Given the description of an element on the screen output the (x, y) to click on. 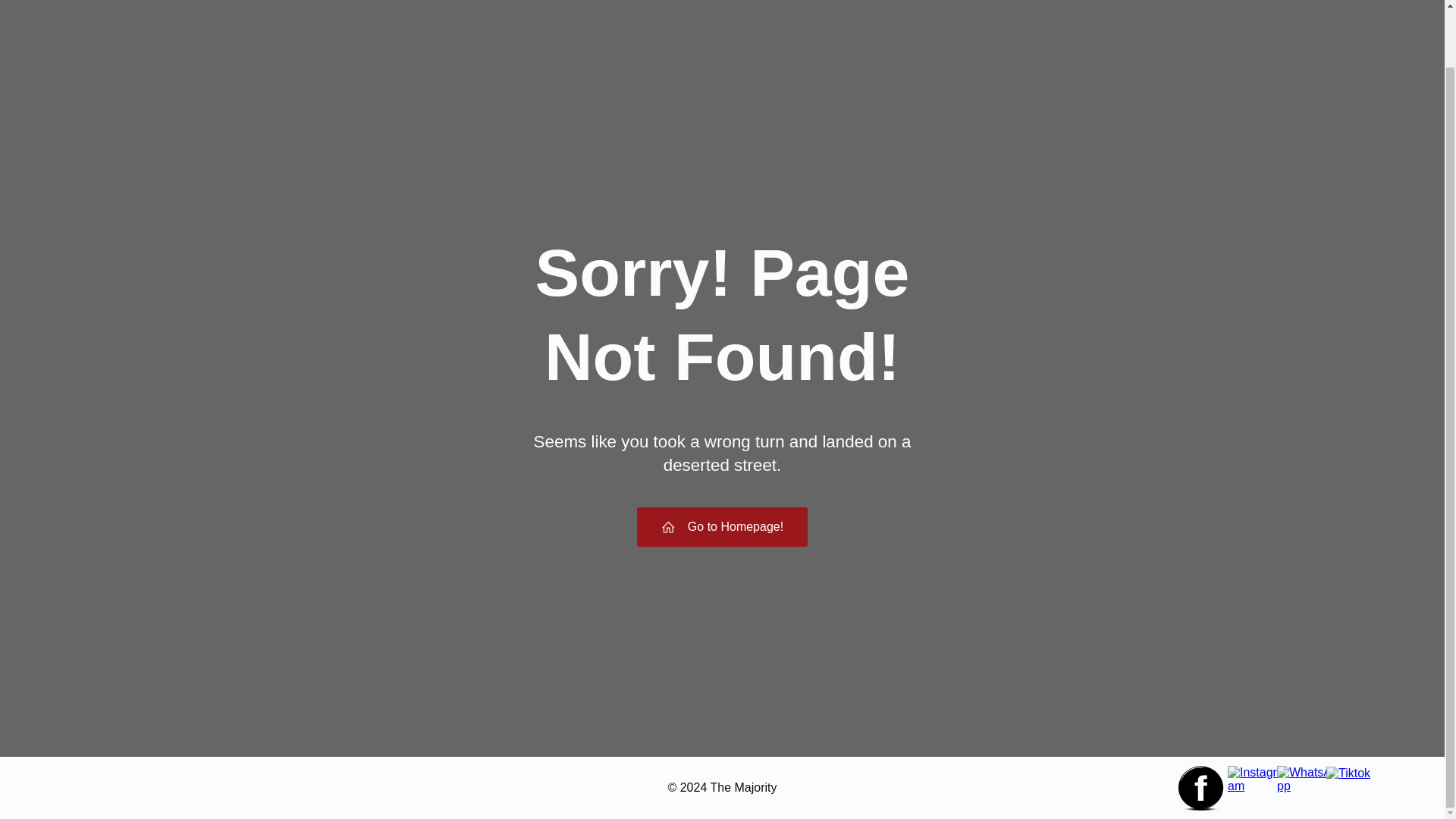
Tiktok (1348, 773)
Facebook (1200, 788)
Instagram (1254, 779)
Go to Homepage! (722, 526)
WhatsApp (1304, 779)
